Given the description of an element on the screen output the (x, y) to click on. 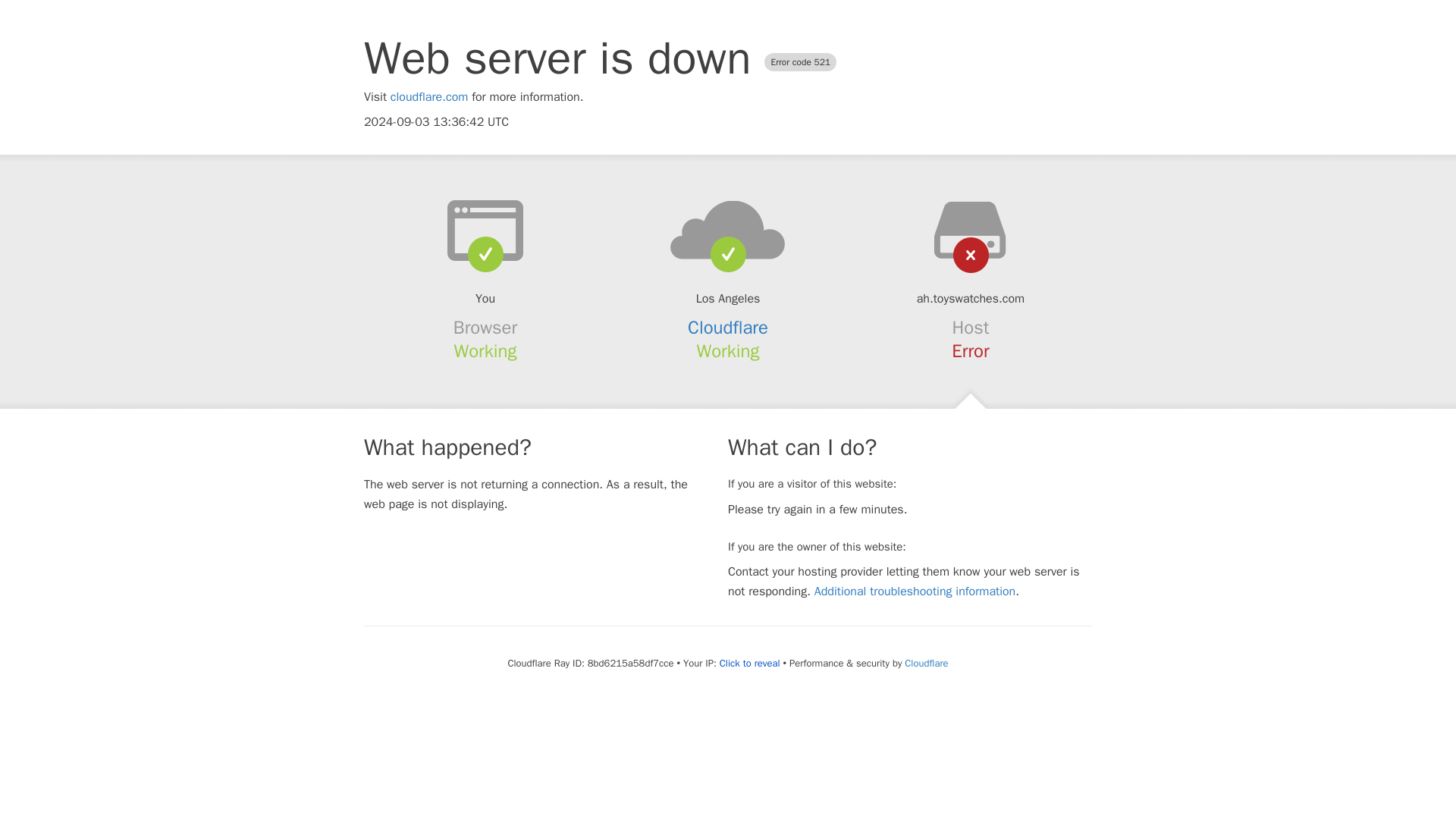
Click to reveal (749, 663)
Cloudflare (925, 662)
Additional troubleshooting information (913, 590)
Cloudflare (727, 327)
cloudflare.com (429, 96)
